Given the description of an element on the screen output the (x, y) to click on. 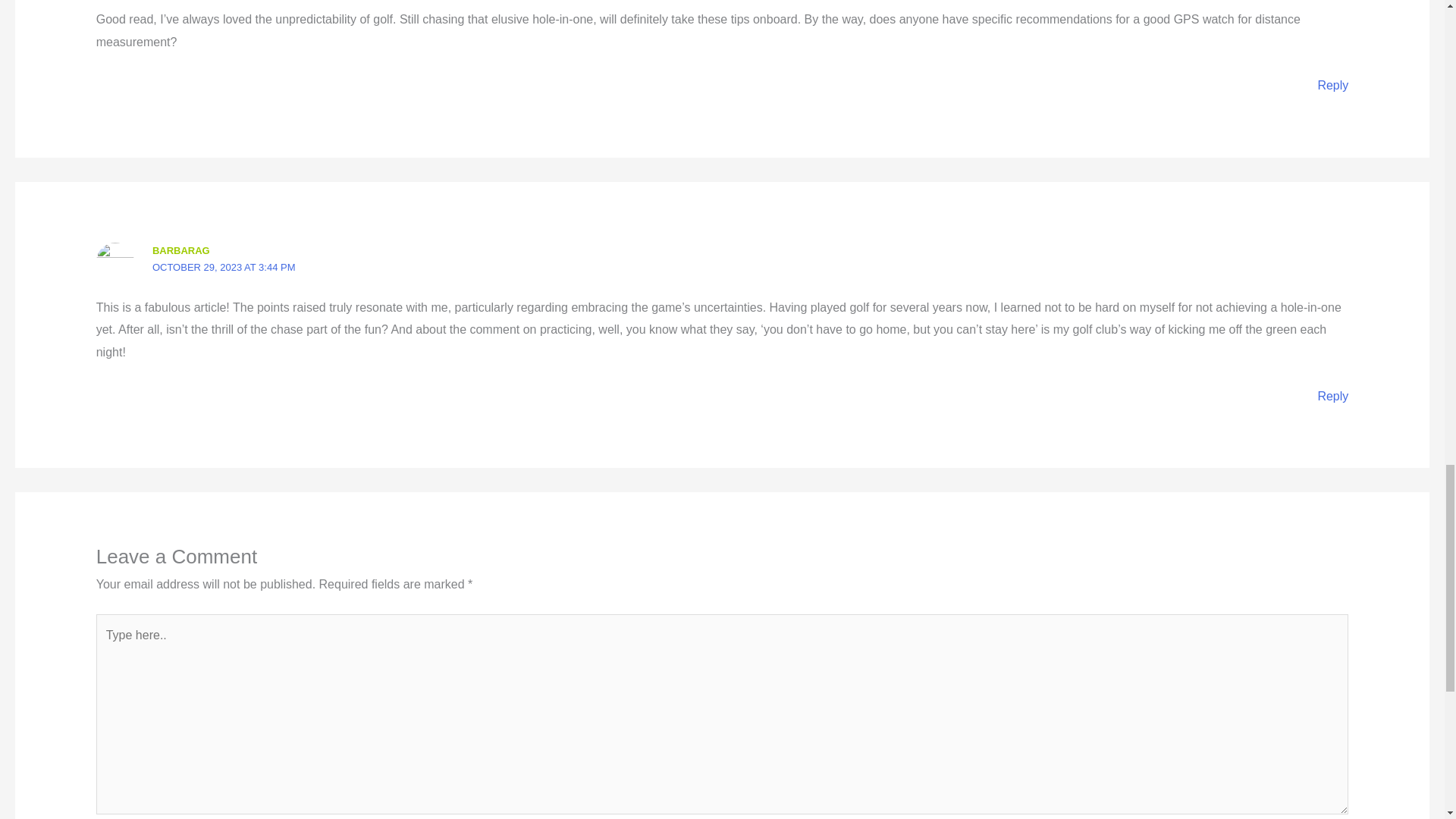
Reply (1332, 395)
OCTOBER 29, 2023 AT 3:44 PM (223, 266)
Reply (1332, 84)
